Given the description of an element on the screen output the (x, y) to click on. 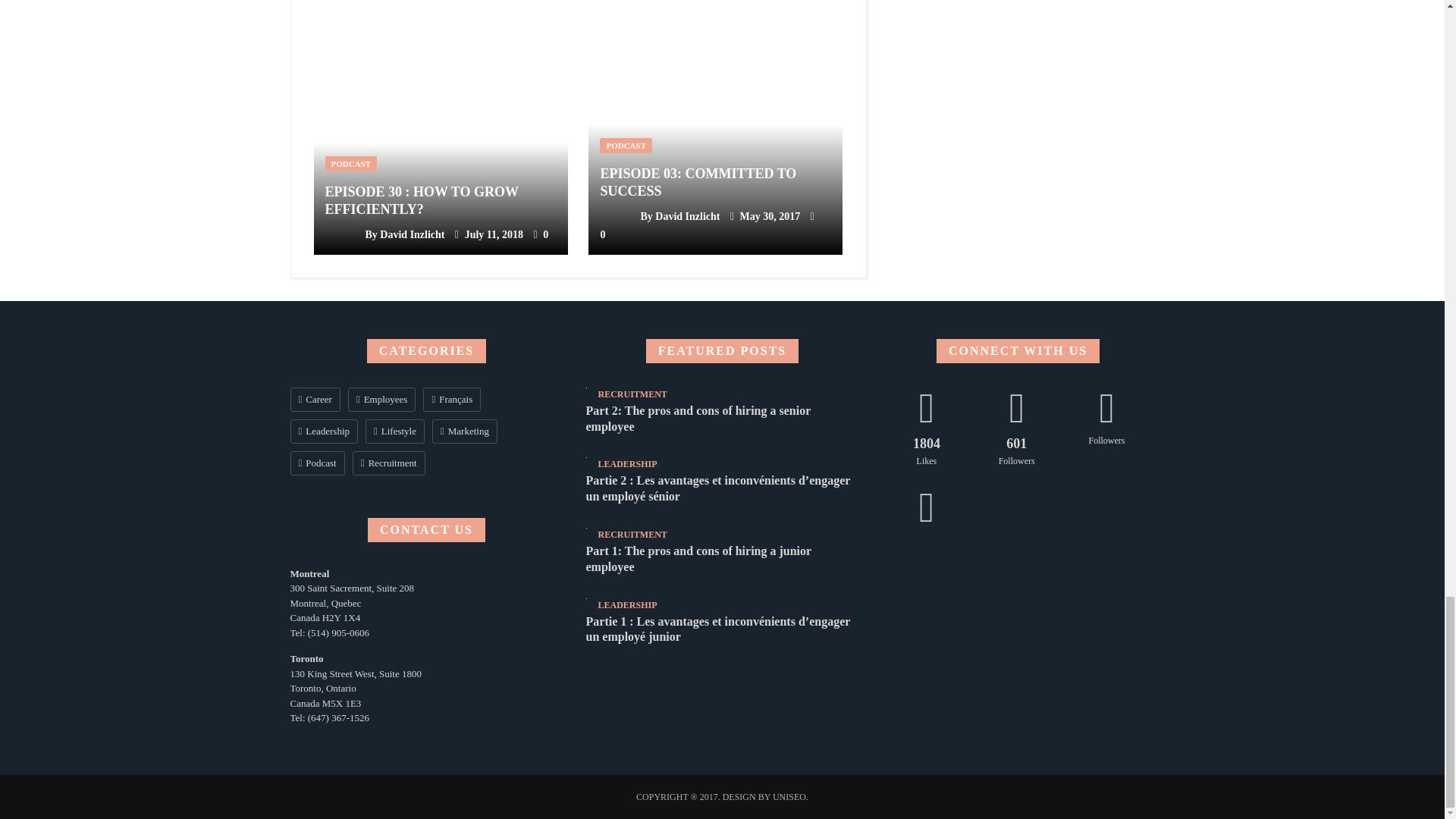
Posts by David Inzlicht (412, 234)
Uniseo (790, 796)
Posts by David Inzlicht (687, 215)
